Given the description of an element on the screen output the (x, y) to click on. 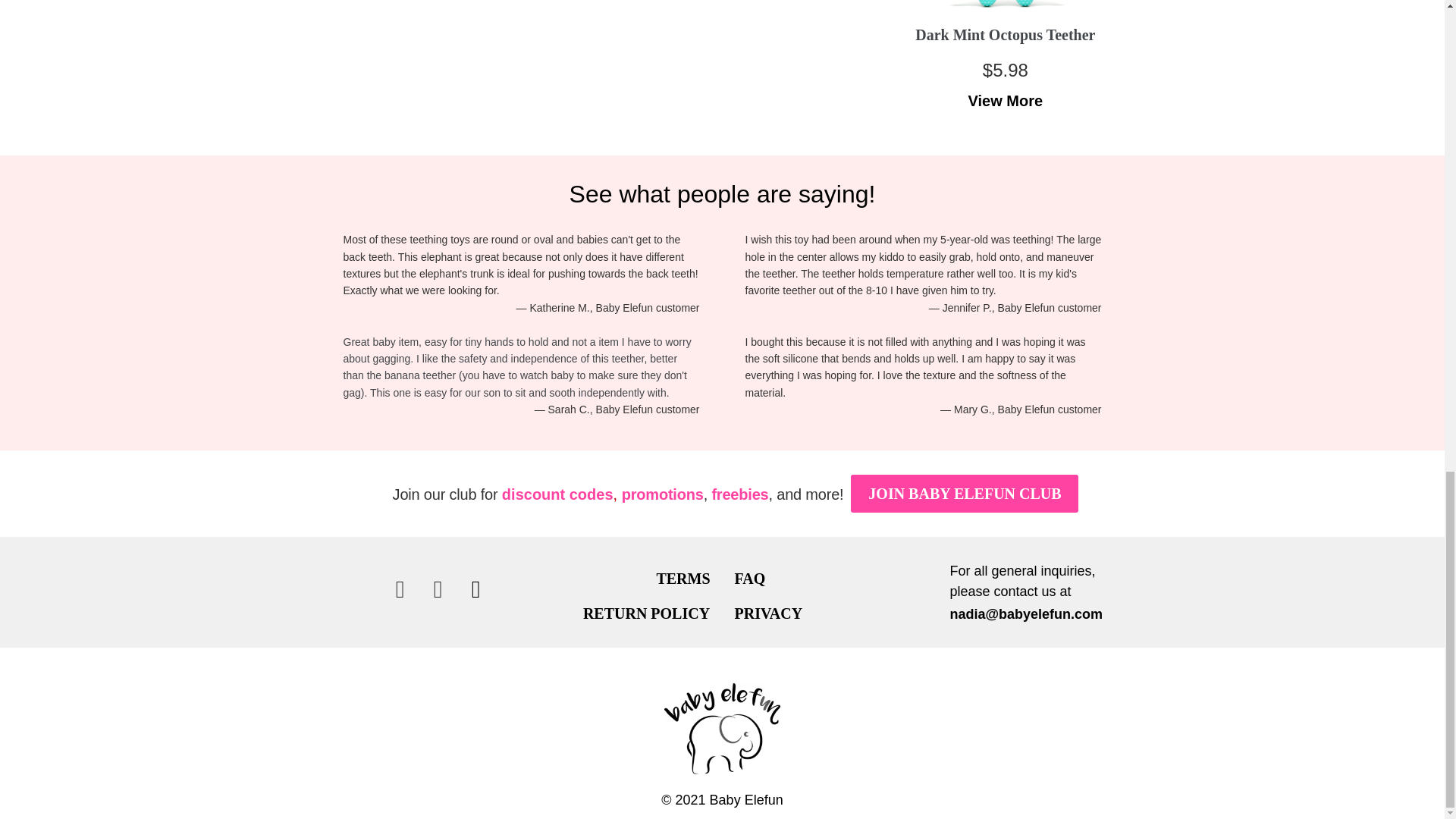
Dark Mint Octopus Teether (1004, 34)
RETURN POLICY (650, 613)
TERMS (682, 578)
JOIN BABY ELEFUN CLUB (964, 493)
PRIVACY (767, 613)
FAQ (749, 578)
View More (1005, 100)
